Given the description of an element on the screen output the (x, y) to click on. 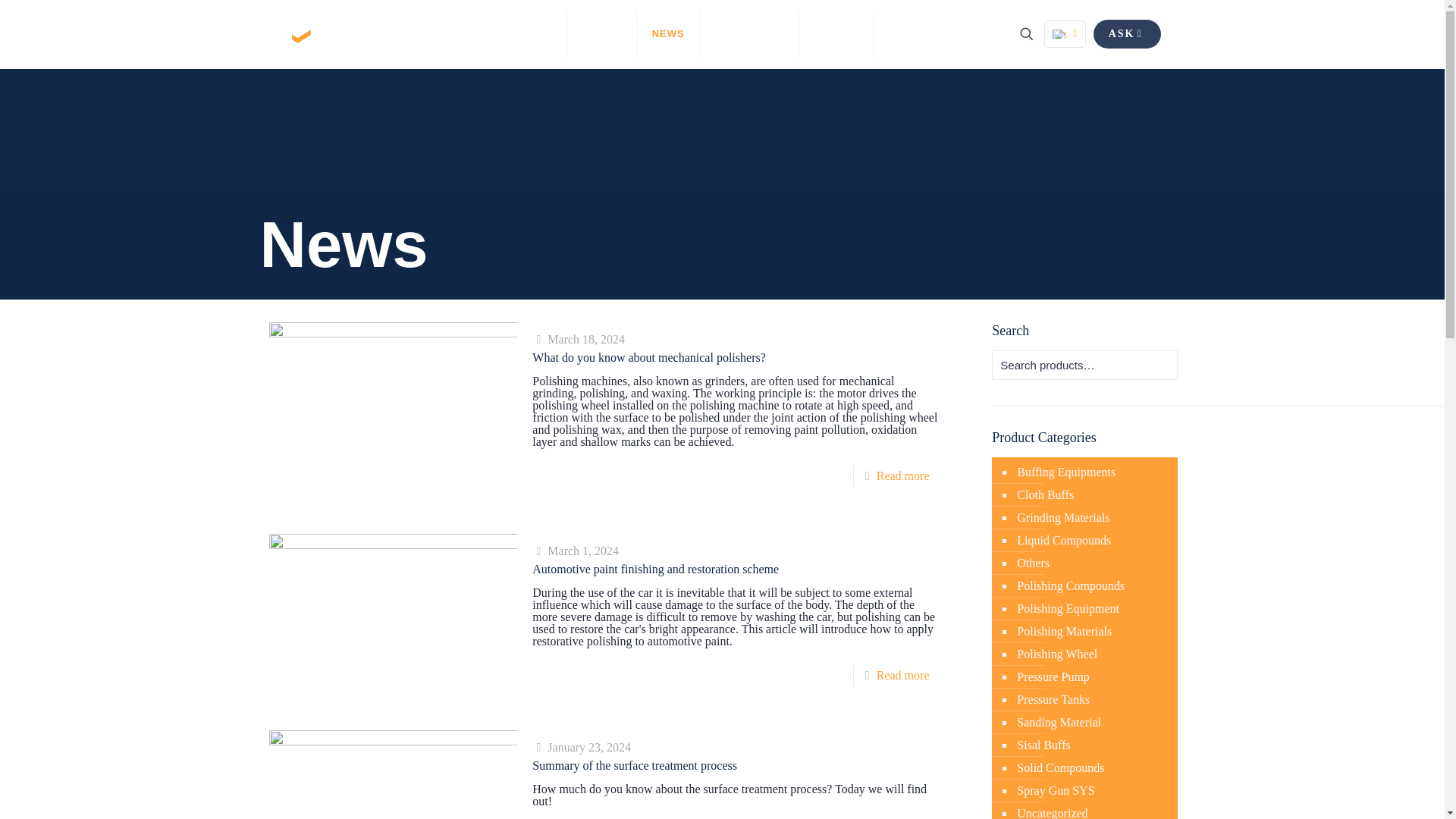
RESPONSIBILITY (936, 33)
Read more (903, 475)
NEWS (668, 33)
CATALOGUE (749, 33)
Automotive paint finishing and restoration scheme (655, 568)
What do you know about mechanical polishers? (648, 357)
SHOP (837, 33)
Makeraze Store (363, 33)
HOME (535, 33)
ABOUT (602, 33)
ASK (1126, 33)
